Given the description of an element on the screen output the (x, y) to click on. 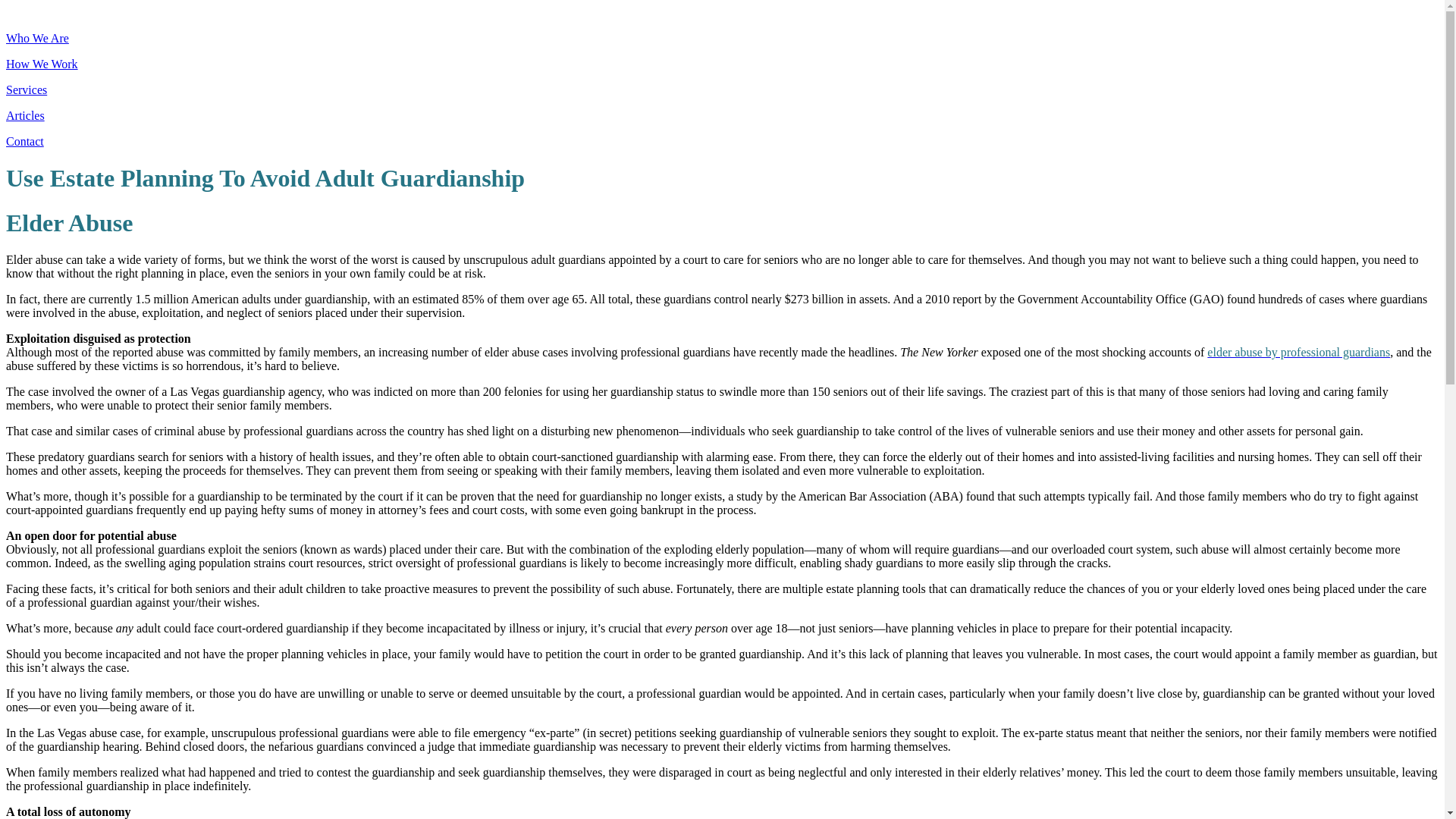
Contact (24, 141)
How We Work (41, 63)
elder abuse by professional guardians (1298, 351)
Articles (25, 115)
Who We Are (36, 38)
Services (25, 89)
